Given the description of an element on the screen output the (x, y) to click on. 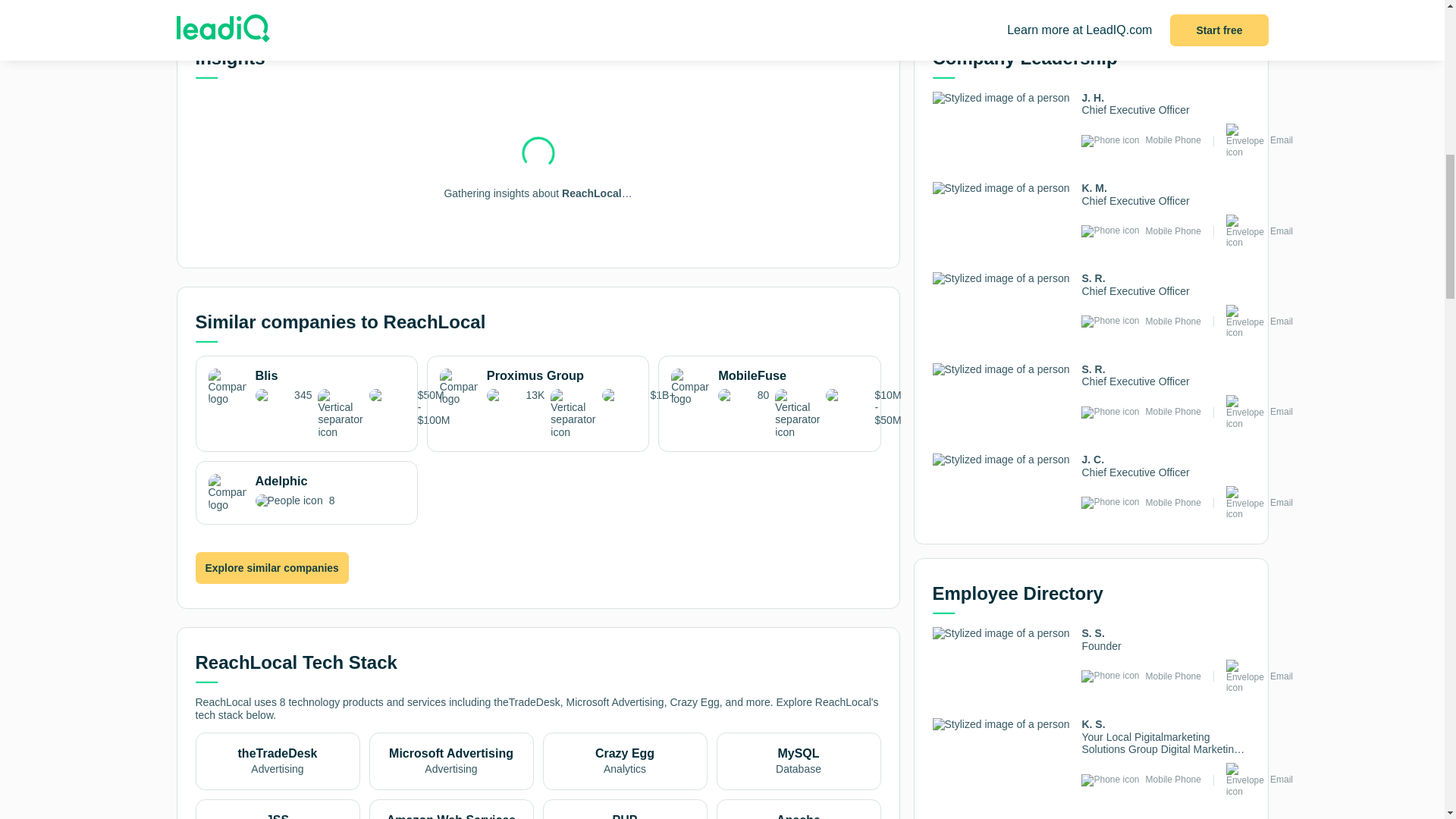
Email Format (718, 1)
Explore similar companies (272, 567)
Insights (236, 2)
FAQ (838, 1)
Tech Stack (306, 492)
Similar companies (476, 1)
Explore similar companies (357, 1)
